Given the description of an element on the screen output the (x, y) to click on. 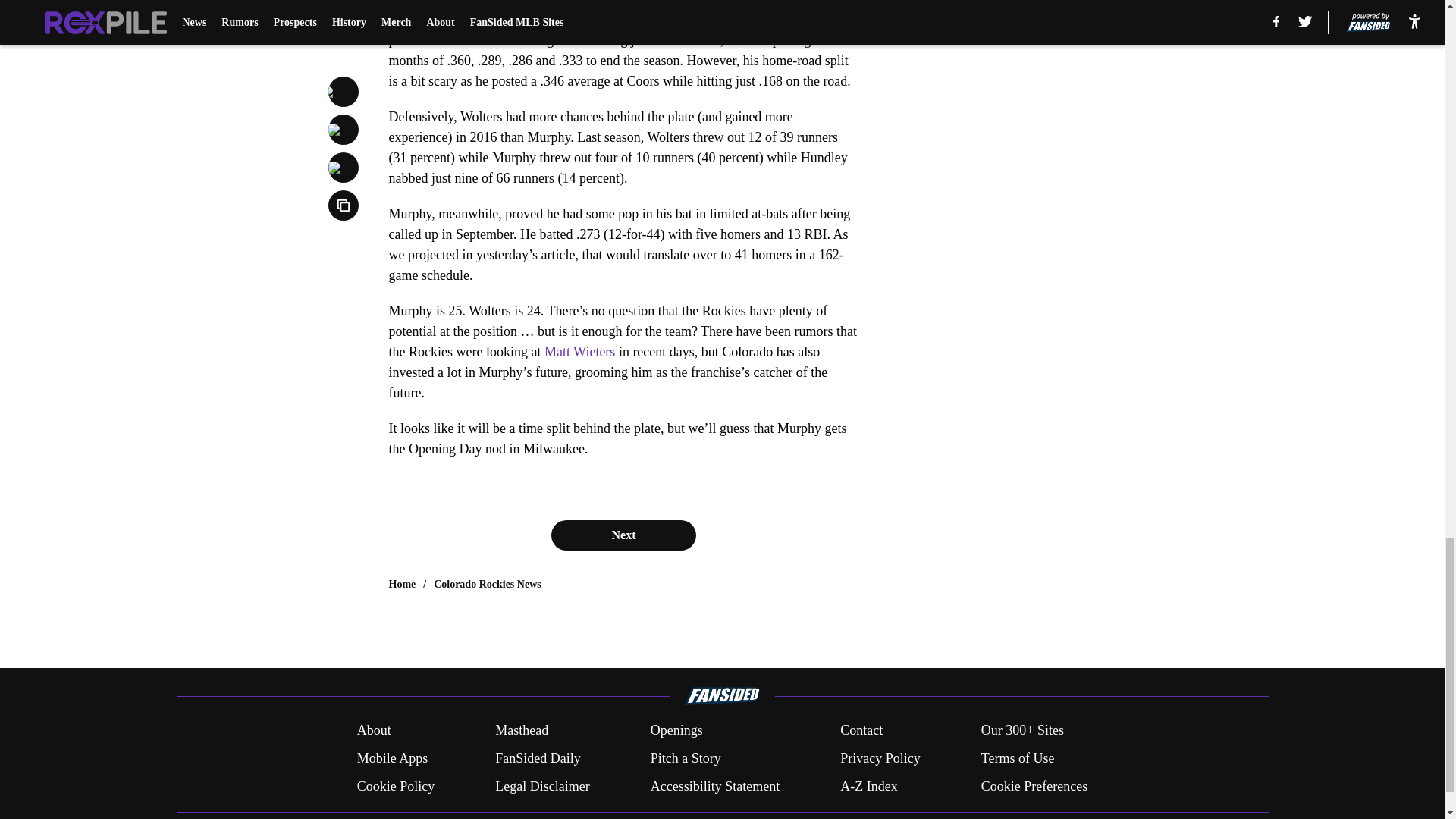
Mobile Apps (392, 758)
Home (401, 584)
Masthead (521, 730)
Pitch a Story (685, 758)
Contact (861, 730)
Cookie Policy (395, 786)
Colorado Rockies News (487, 584)
Terms of Use (1017, 758)
Openings (676, 730)
FanSided Daily (537, 758)
Next (622, 535)
Matt Wieters (579, 351)
Privacy Policy (880, 758)
About (373, 730)
